Given the description of an element on the screen output the (x, y) to click on. 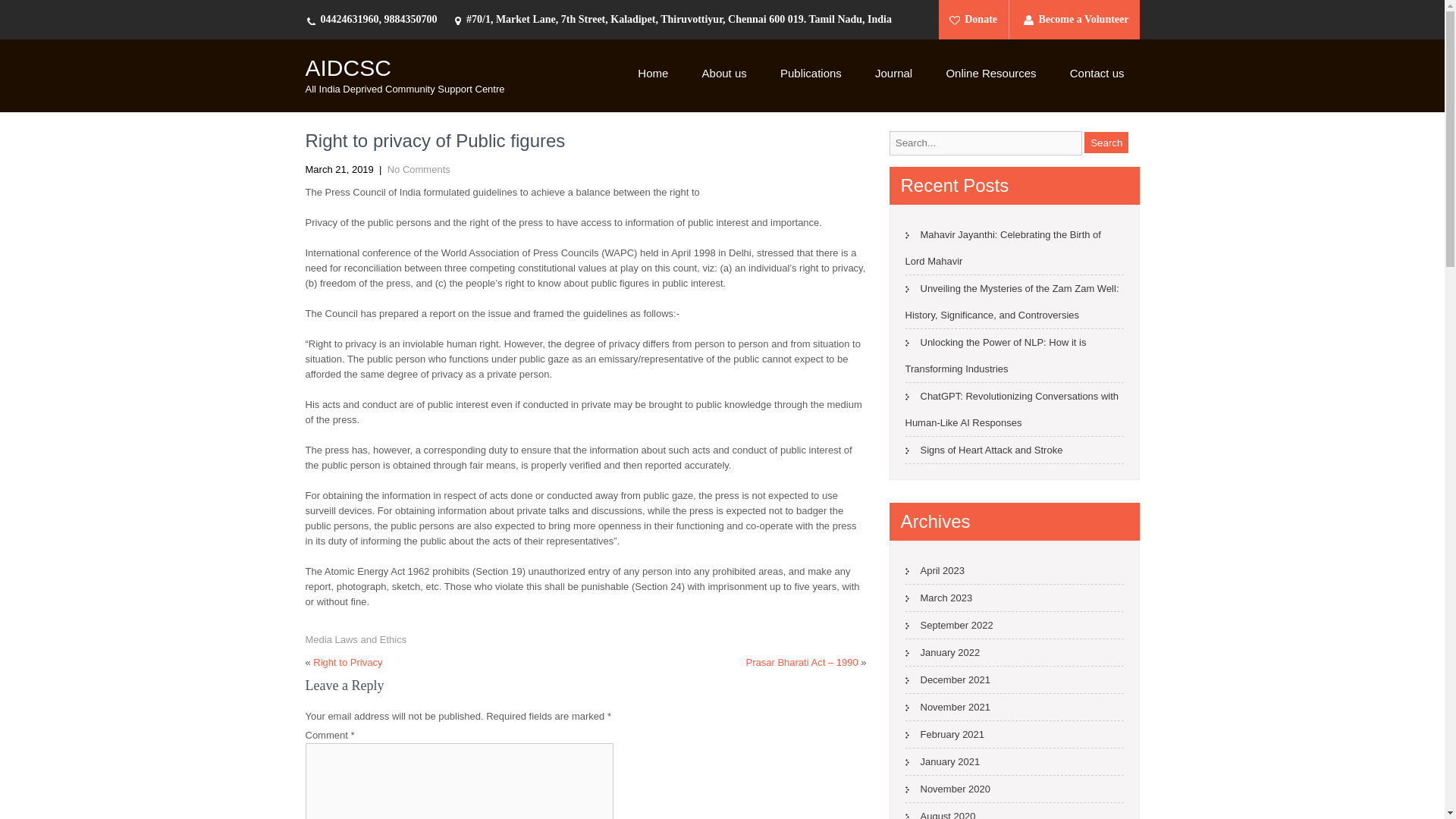
November 2020 (948, 788)
AIDCSC (347, 67)
January 2022 (942, 652)
Become a Volunteer (1076, 19)
December 2021 (948, 679)
Contact us (1097, 73)
No Comments (418, 169)
Donate (979, 19)
February 2021 (945, 734)
Signs of Heart Attack and Stroke (983, 449)
Search (1106, 142)
Search (1106, 142)
